Given the description of an element on the screen output the (x, y) to click on. 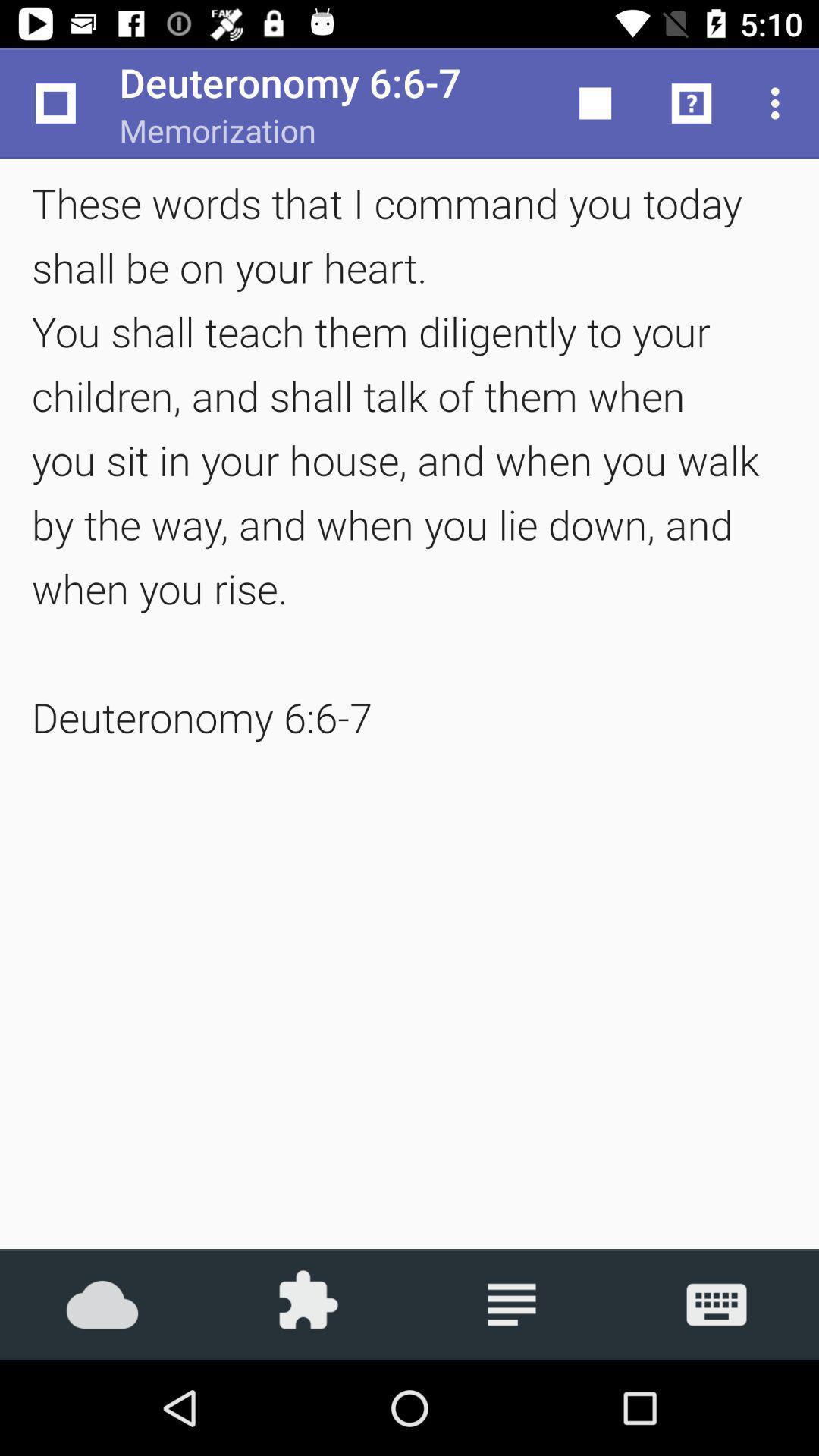
select the icon at the bottom right corner (716, 1304)
